Given the description of an element on the screen output the (x, y) to click on. 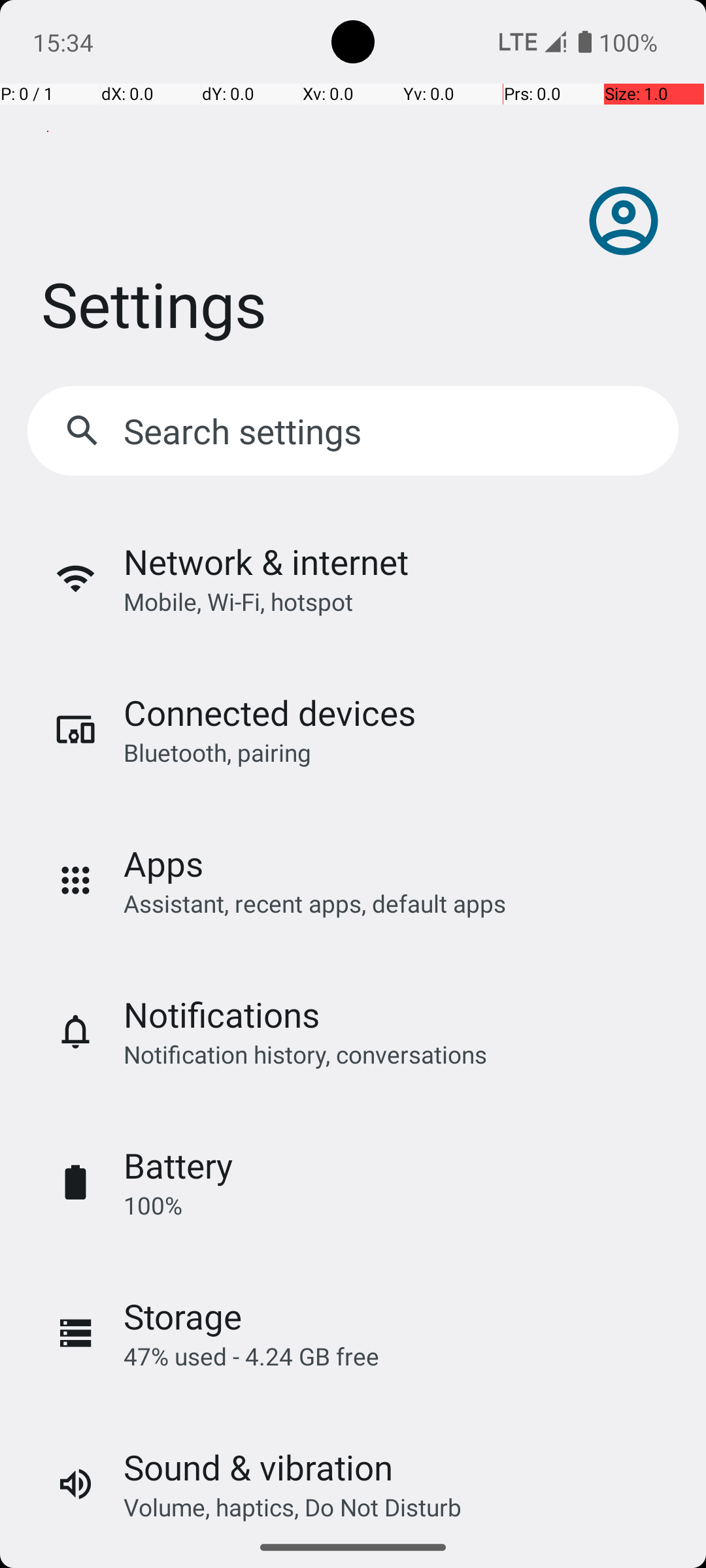
47% used - 4.24 GB free Element type: android.widget.TextView (251, 1355)
